Given the description of an element on the screen output the (x, y) to click on. 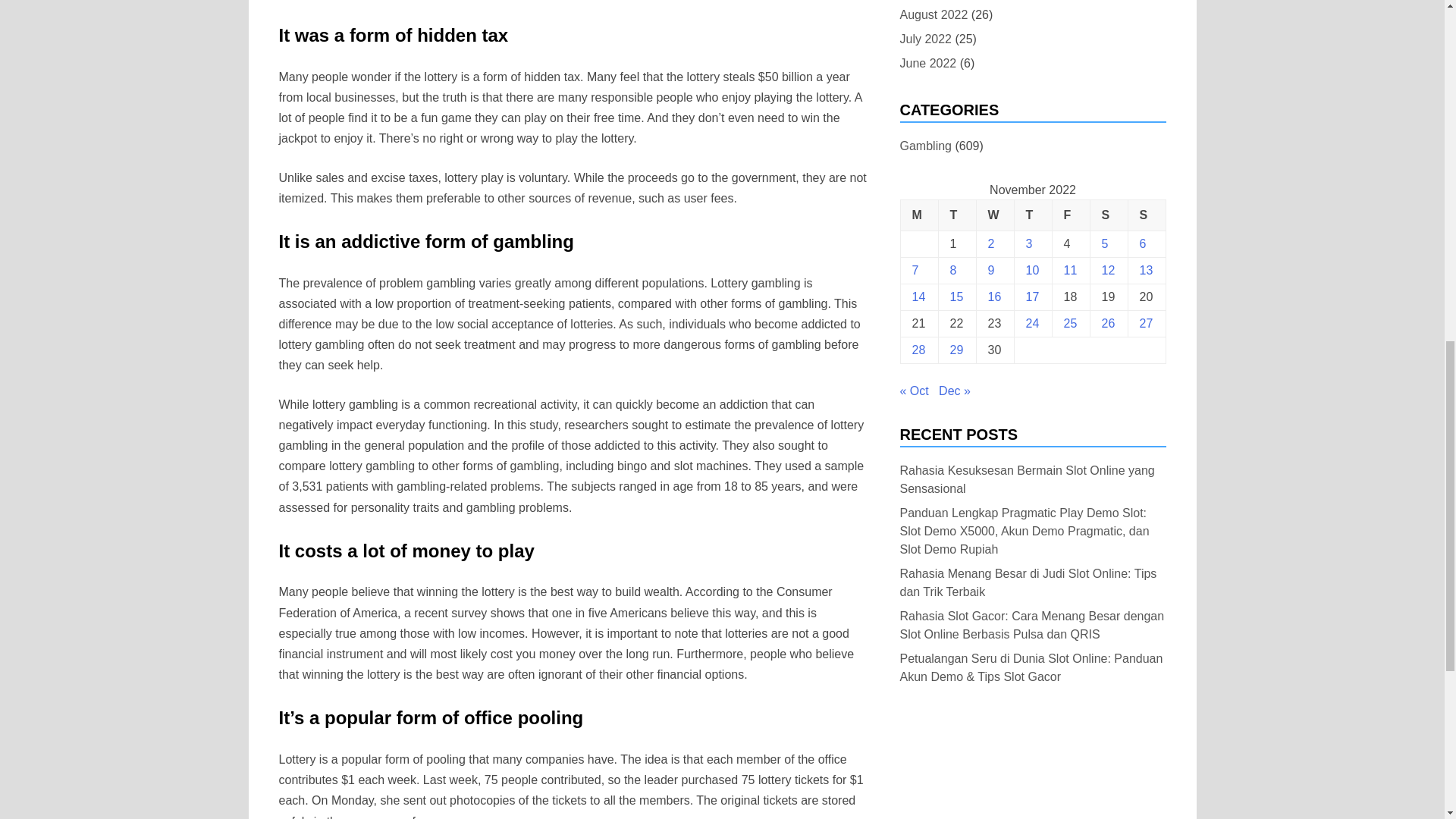
Gambling (924, 145)
Sunday (1146, 214)
August 2022 (933, 14)
Monday (918, 214)
Wednesday (994, 214)
July 2022 (925, 38)
Thursday (1032, 214)
June 2022 (927, 63)
Tuesday (956, 214)
Friday (1070, 214)
Saturday (1107, 214)
